Given the description of an element on the screen output the (x, y) to click on. 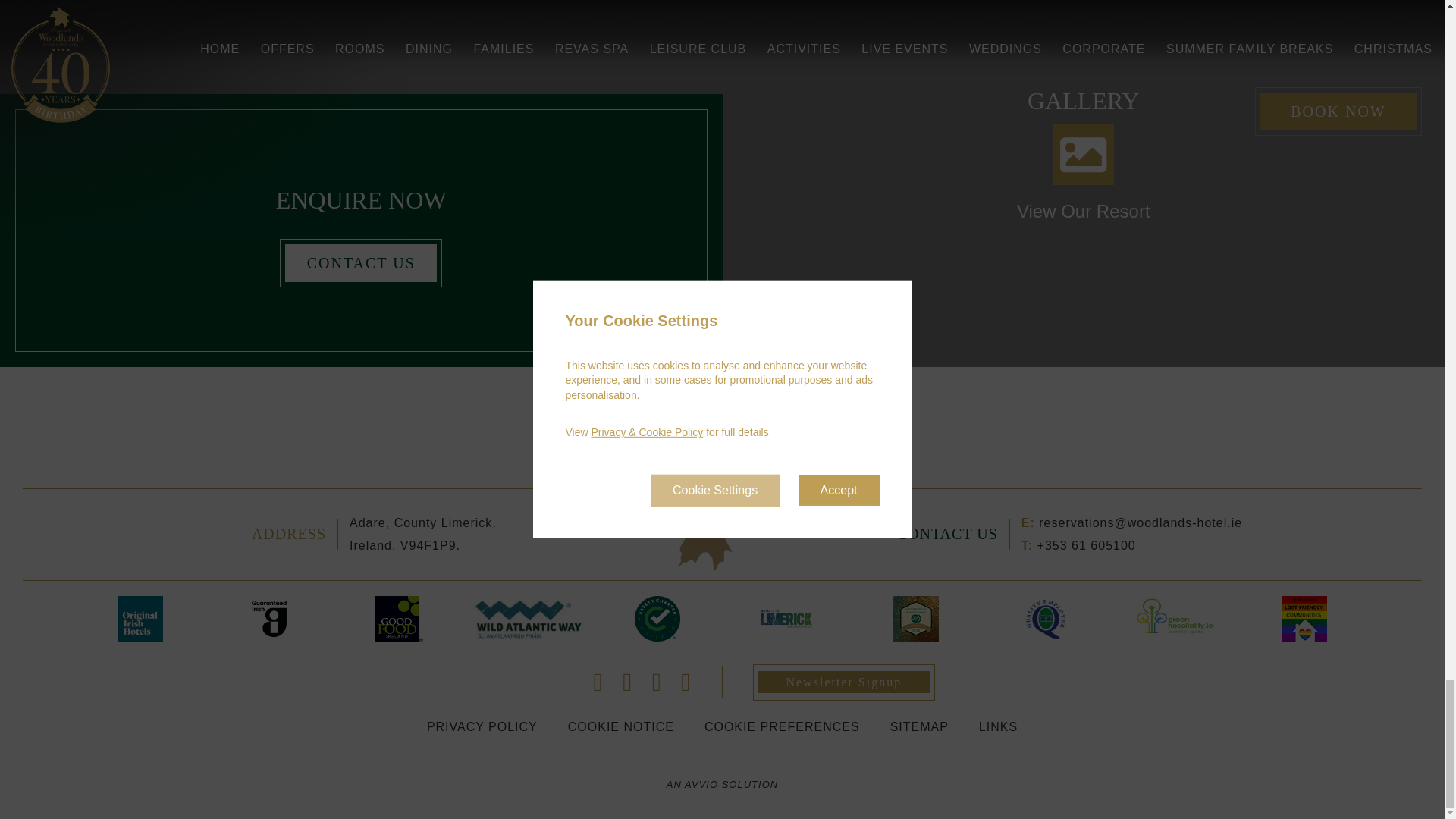
Wild Atlantic Way (528, 618)
Quality Employer (1045, 618)
Good Food Ireland (398, 618)
Failte Ireland Safety Charter (657, 618)
Green Hospitality (1174, 618)
LGBTQ Friendly (1304, 618)
Woodlands Hotel on Twitter (627, 682)
Guaranteed Irish (268, 618)
Woodlands Hotel on Tripadvisor (685, 682)
Call Us (1085, 545)
limerick (785, 618)
Follow us on Facebook (598, 682)
Original Irish Hotels (139, 618)
Woodlands on Instagram (657, 682)
Email Us (1140, 522)
